Given the description of an element on the screen output the (x, y) to click on. 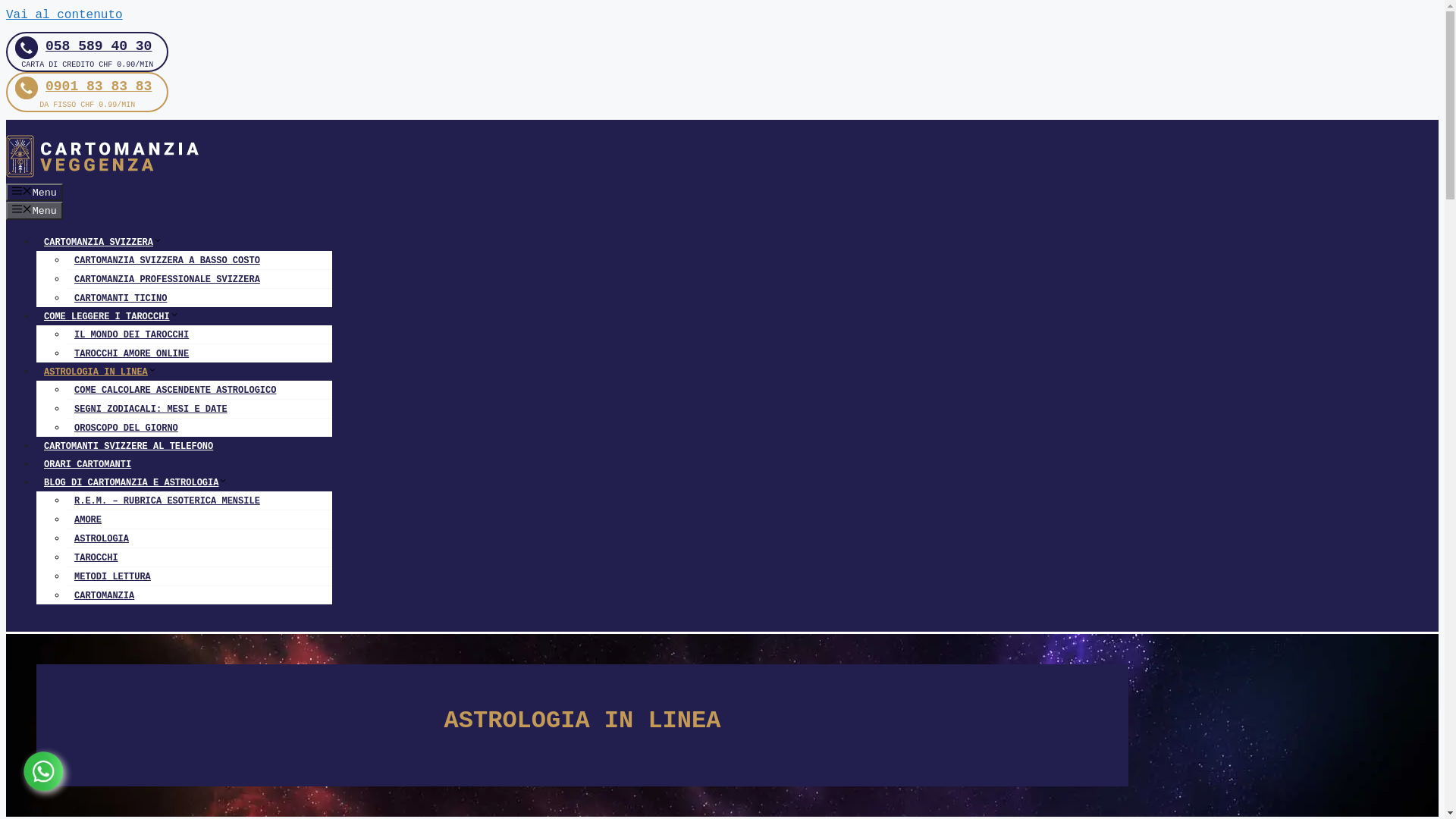
METODI LETTURA Element type: text (108, 576)
ASTROLOGIA Element type: text (97, 538)
Vai al contenuto Element type: text (64, 14)
Cartomanzia Veggenza Element type: hover (104, 174)
COME LEGGERE I TAROCCHI Element type: text (107, 316)
0901 83 83 83
DA FISSO CHF 0.99/MIN Element type: text (87, 92)
CARTOMANZIA SVIZZERA Element type: text (99, 242)
CARTOMANZIA PROFESSIONALE SVIZZERA Element type: text (163, 279)
Menu Element type: text (34, 191)
TAROCCHI Element type: text (92, 557)
SEGNI ZODIACALI: MESI E DATE Element type: text (146, 409)
CARTOMANTI SVIZZERE AL TELEFONO Element type: text (124, 446)
058 589 40 30
CARTA DI CREDITO CHF 0.90/MIN Element type: text (87, 51)
BLOG DI CARTOMANZIA E ASTROLOGIA Element type: text (131, 482)
CARTOMANZIA SVIZZERA A BASSO COSTO Element type: text (163, 260)
AMORE Element type: text (83, 519)
CARTOMANZIA Element type: text (100, 595)
COME CALCOLARE ASCENDENTE ASTROLOGICO Element type: text (171, 390)
IL MONDO DEI TAROCCHI Element type: text (127, 334)
TAROCCHI AMORE ONLINE Element type: text (127, 353)
ORARI CARTOMANTI Element type: text (83, 464)
Menu Element type: text (34, 210)
OROSCOPO DEL GIORNO Element type: text (122, 428)
ASTROLOGIA IN LINEA Element type: text (96, 372)
CARTOMANTI TICINO Element type: text (116, 298)
